Given the description of an element on the screen output the (x, y) to click on. 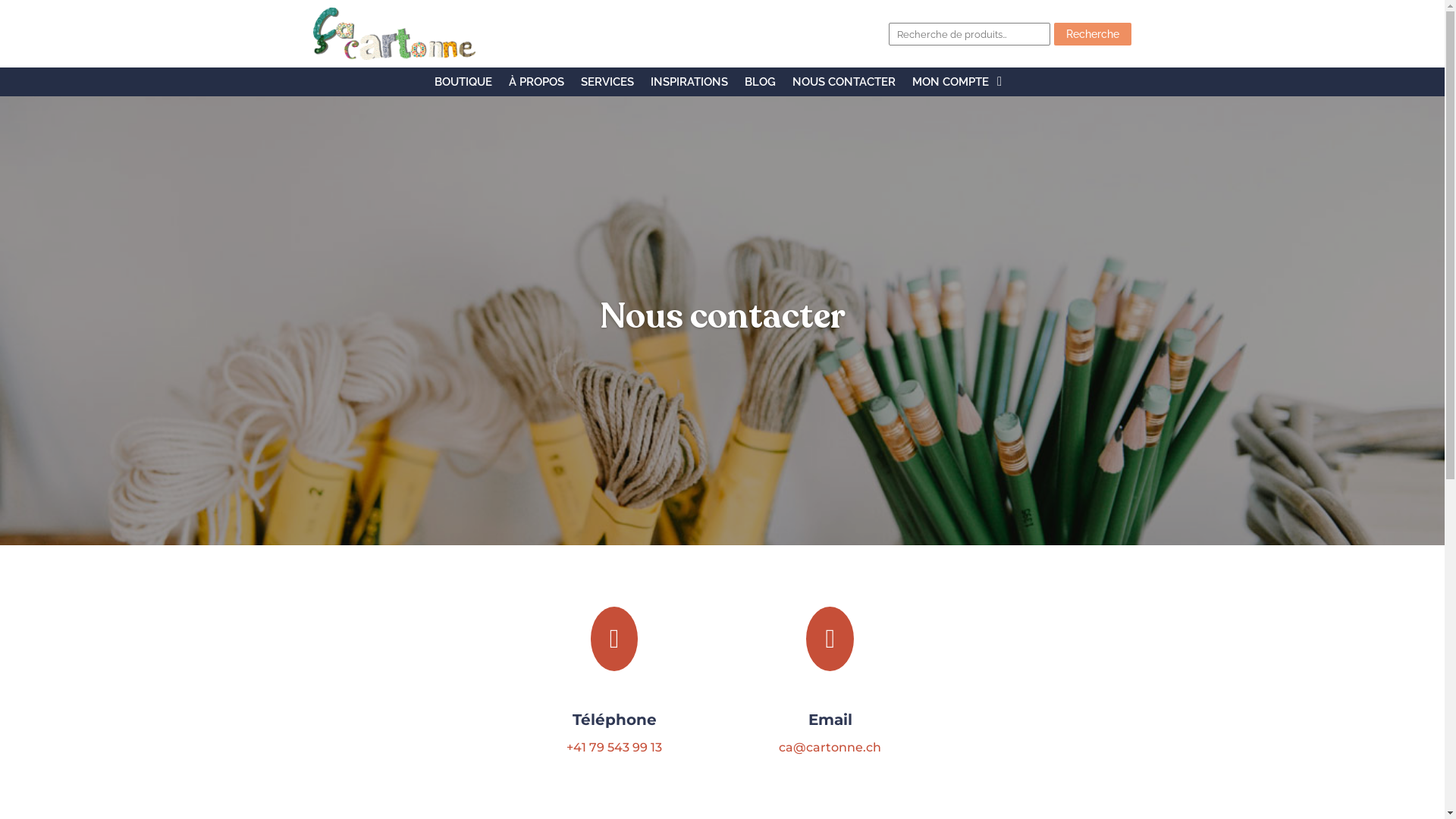
Recherche Element type: text (1092, 33)
MON COMPTE Element type: text (950, 84)
BLOG Element type: text (759, 84)
+41 79 543 99 13 Element type: text (614, 747)
Logo-cacartonne Element type: hover (393, 33)
BOUTIQUE Element type: text (463, 84)
ca@cartonne.ch Element type: text (829, 747)
SERVICES Element type: text (606, 84)
INSPIRATIONS Element type: text (689, 84)
NOUS CONTACTER Element type: text (843, 84)
